Given the description of an element on the screen output the (x, y) to click on. 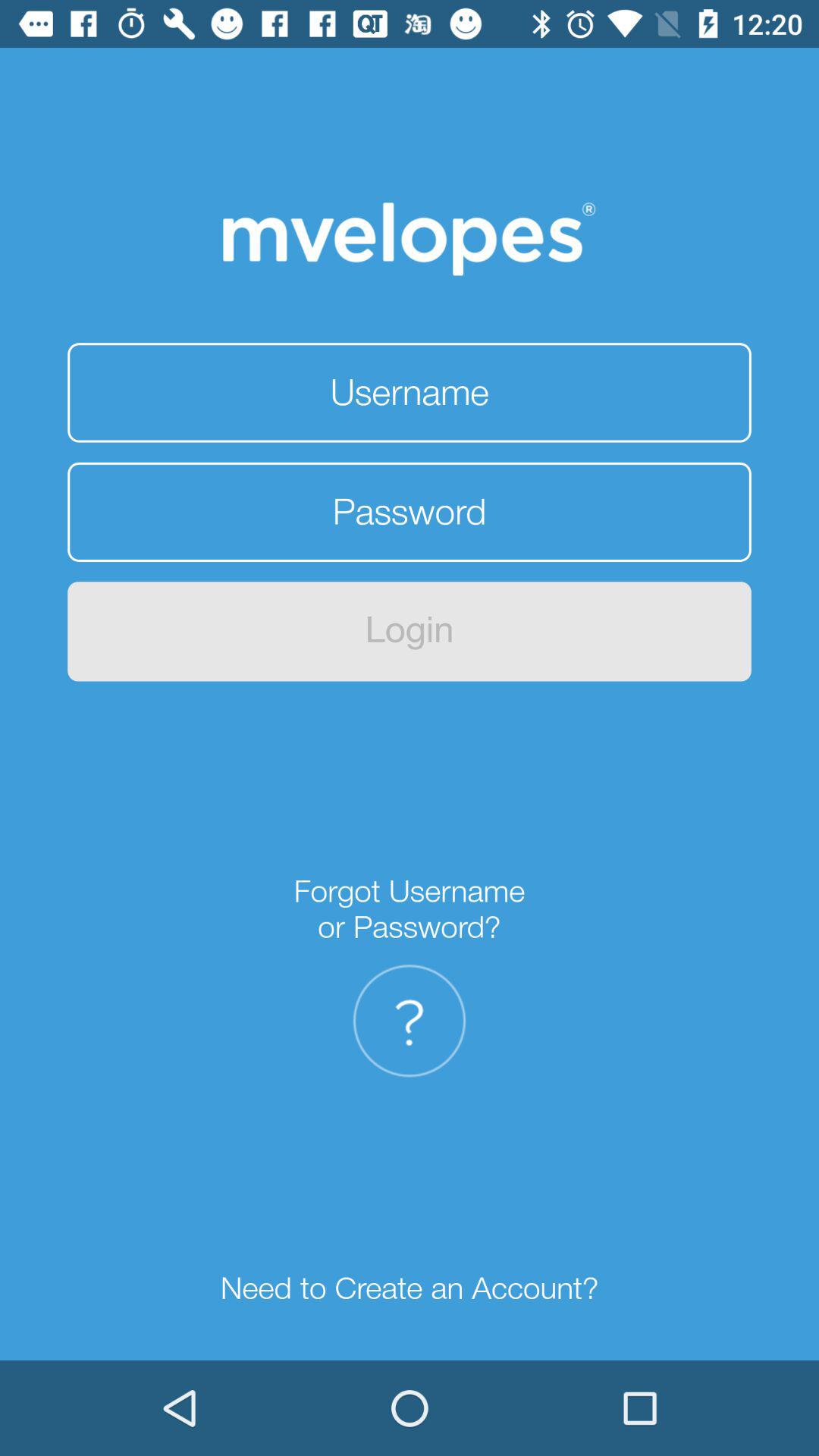
flip to need to create icon (409, 1288)
